Given the description of an element on the screen output the (x, y) to click on. 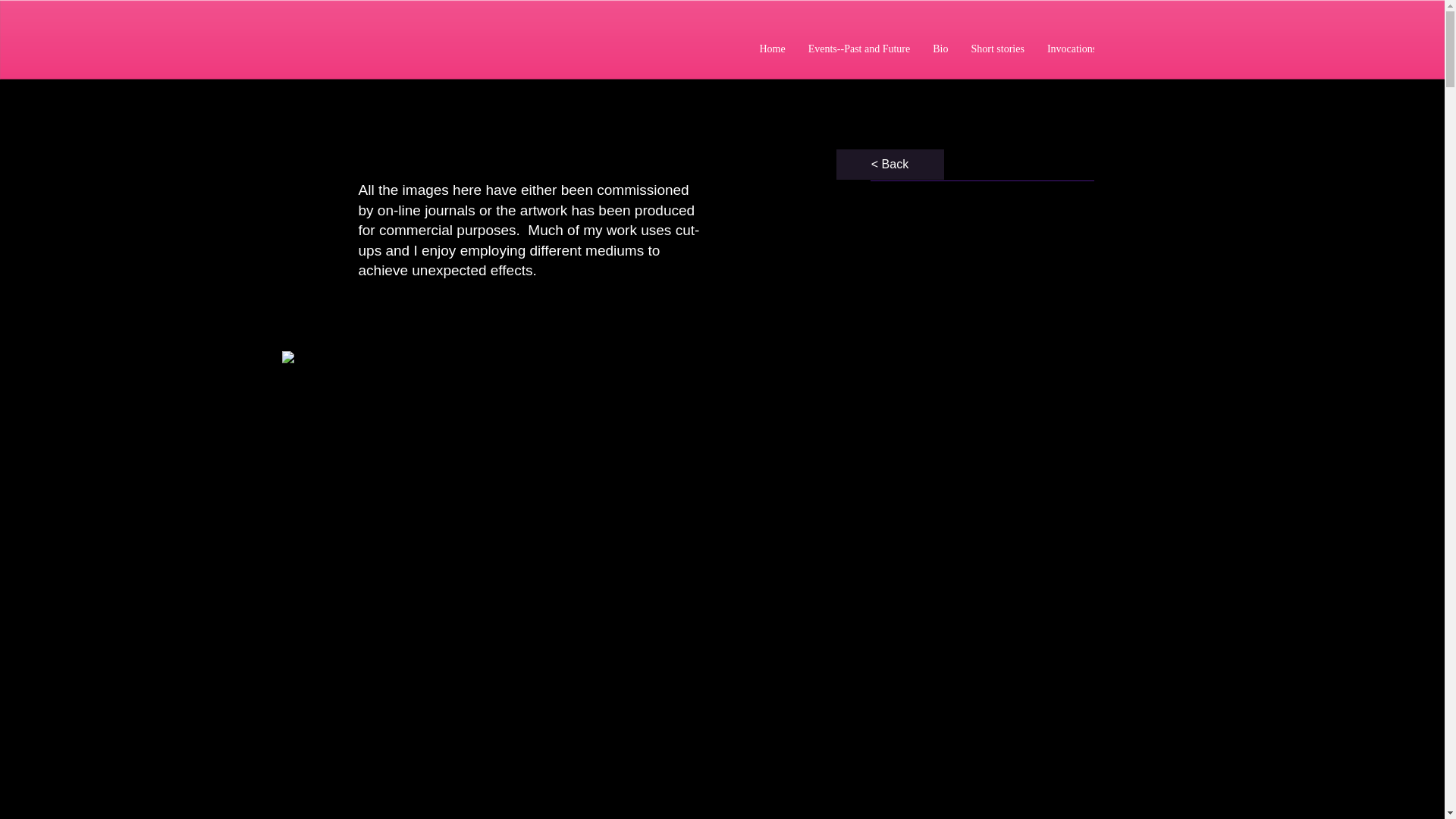
Short stories (997, 60)
Home (772, 60)
Events--Past and Future (858, 60)
Bio (940, 60)
Invocations (1071, 60)
